Given the description of an element on the screen output the (x, y) to click on. 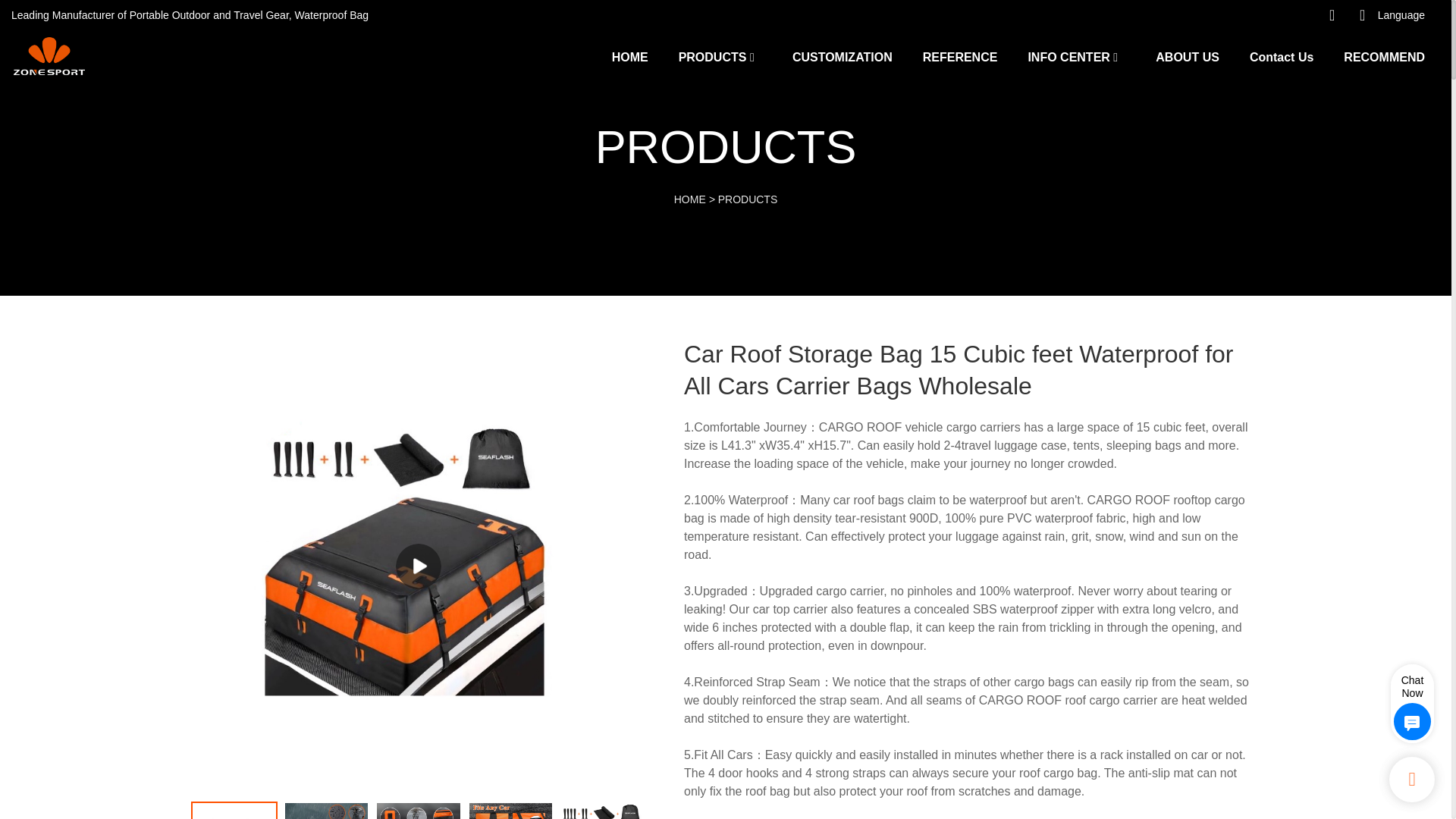
HOME (629, 56)
instagram (1233, 15)
INFO CENTER (1068, 56)
PRODUCTS (747, 199)
CUSTOMIZATION (842, 56)
REFERENCE (960, 56)
ABOUT US (1188, 56)
PRODUCTS (712, 56)
RECOMMEND (1384, 56)
youtube (1203, 15)
